Given the description of an element on the screen output the (x, y) to click on. 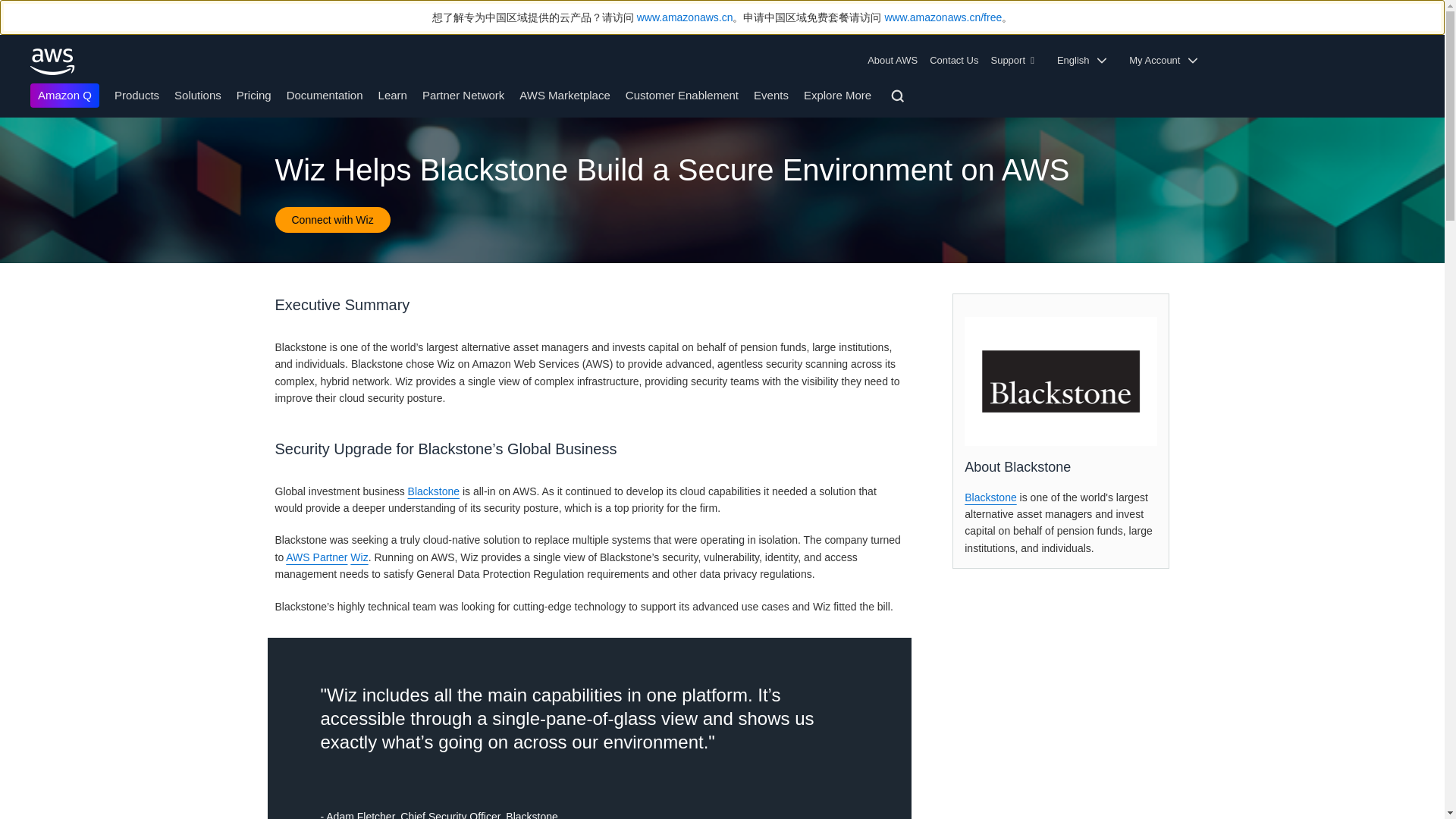
Support  (1016, 60)
English   (1086, 60)
Skip to main content (7, 124)
AWS Marketplace (564, 94)
Customer Enablement (682, 94)
Amazon Q (64, 95)
Learn (392, 94)
About AWS (895, 60)
Solutions (197, 94)
Blackstone (1060, 380)
